Given the description of an element on the screen output the (x, y) to click on. 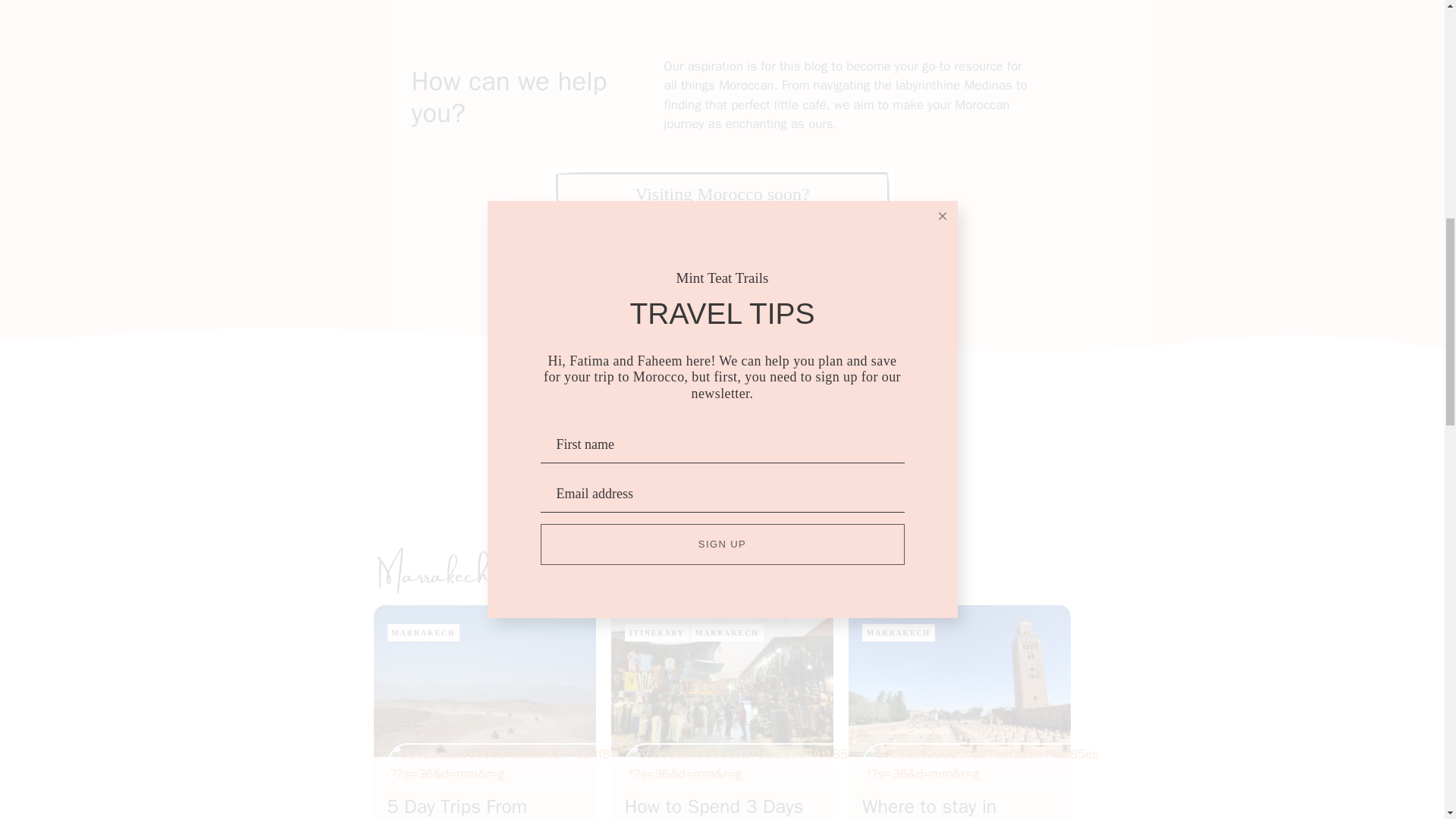
Where to stay in Marrakech In 2024? (945, 806)
MARRAKECH (423, 632)
MARRAKECH (726, 632)
Visiting Morocco soon? (721, 193)
ITINERARY (656, 632)
5 Day Trips From Marrakech In 2024 (466, 806)
How to Spend 3 Days in Marrakech In 2024 (714, 806)
MARRAKECH (897, 632)
